Given the description of an element on the screen output the (x, y) to click on. 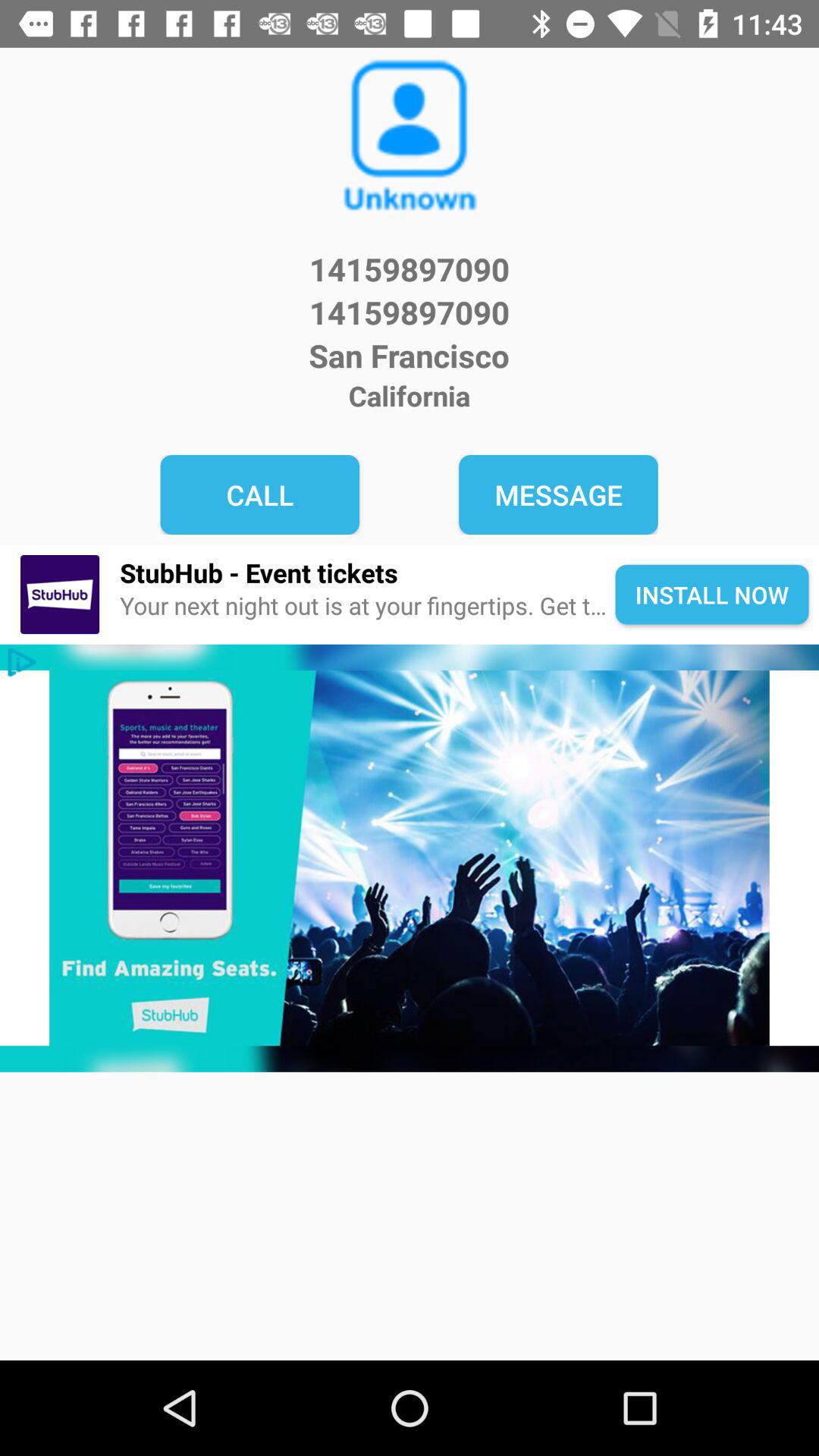
swipe until message item (558, 494)
